Given the description of an element on the screen output the (x, y) to click on. 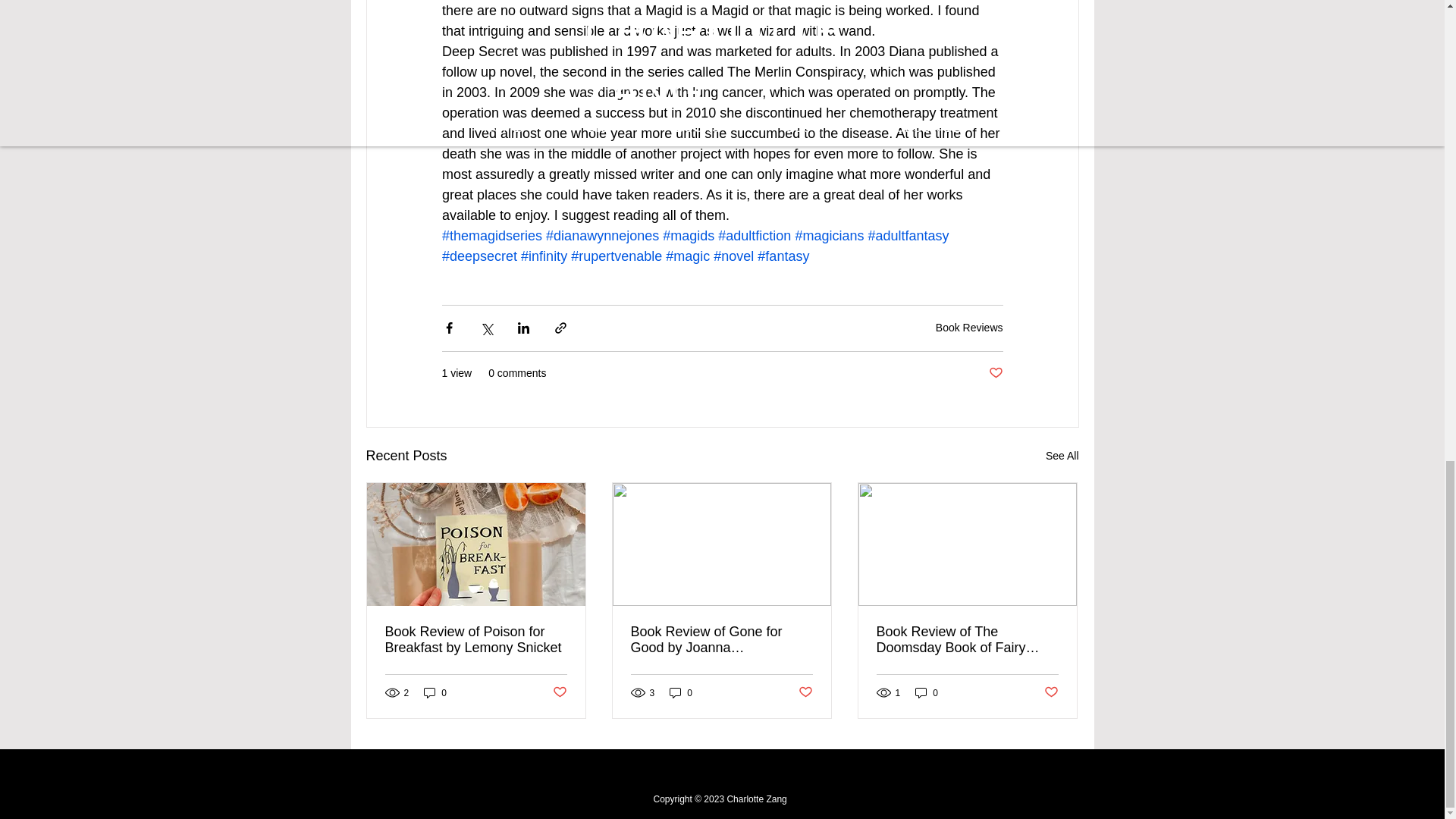
Book Review of Poison for Breakfast by Lemony Snicket (476, 640)
0 (435, 692)
See All (1061, 455)
Post not marked as liked (995, 373)
Post not marked as liked (558, 692)
Book Reviews (969, 327)
